Given the description of an element on the screen output the (x, y) to click on. 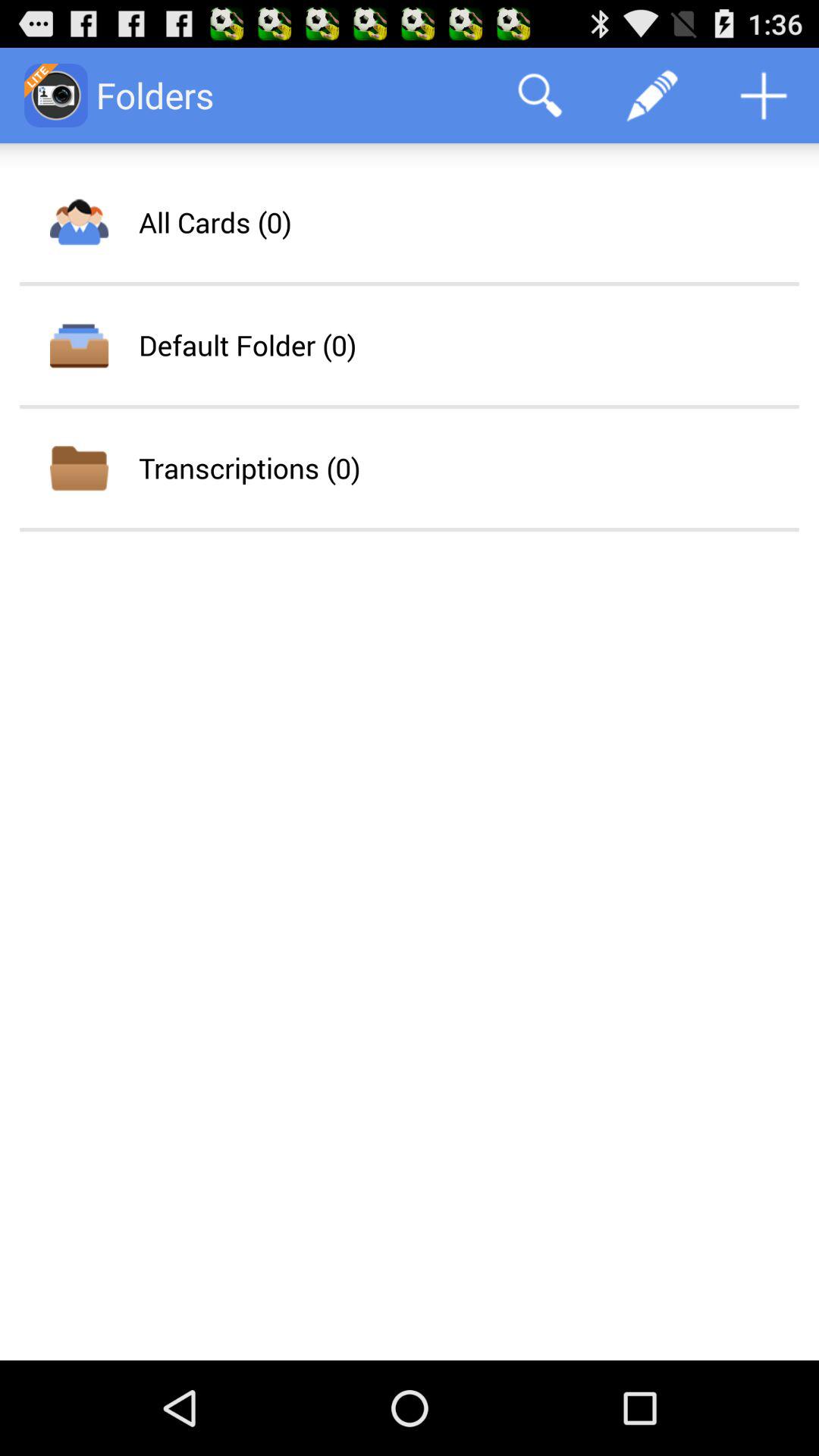
launch default folder (0) item (247, 345)
